Given the description of an element on the screen output the (x, y) to click on. 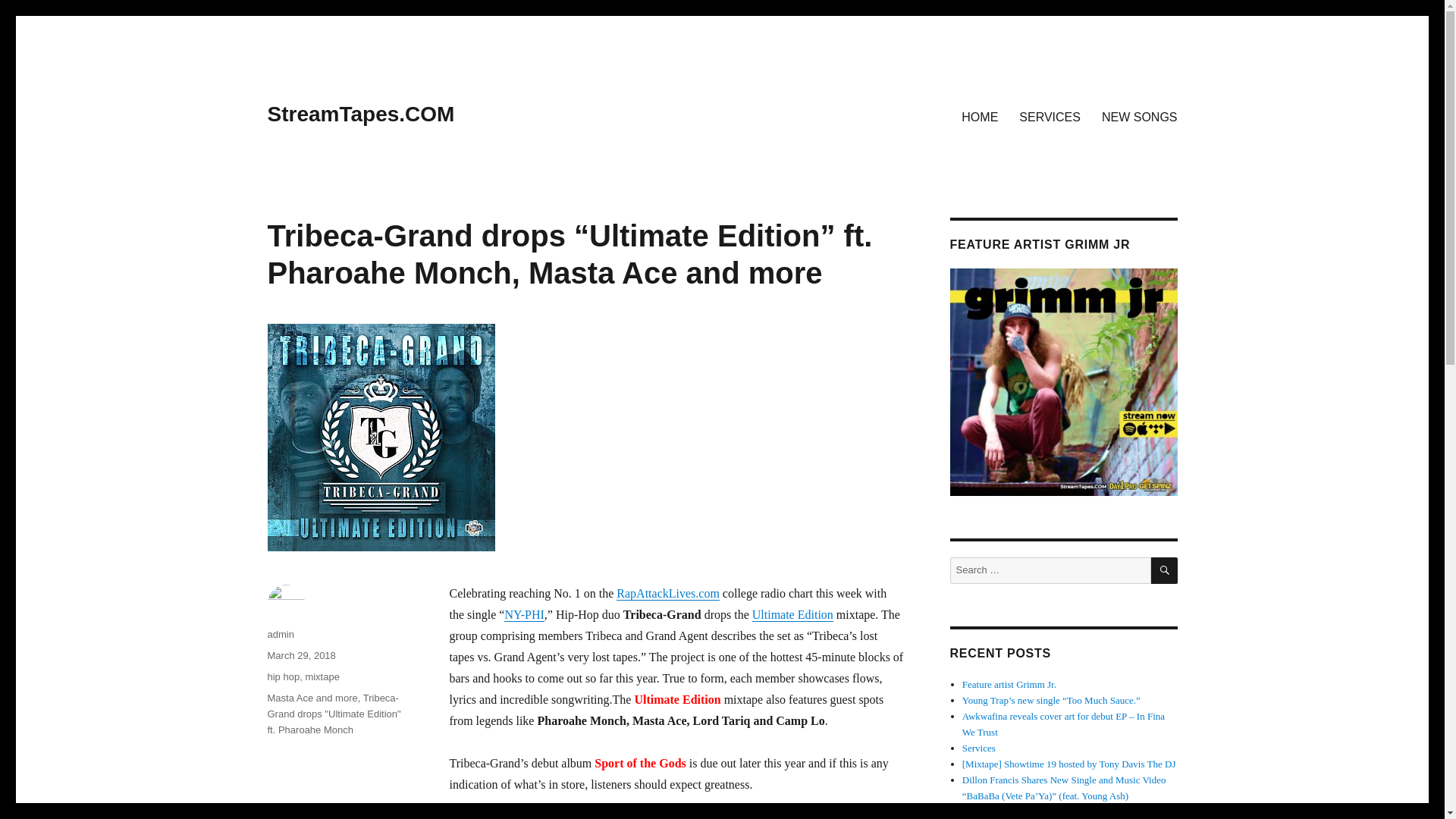
NY-PHI (523, 614)
mixtape (321, 676)
admin (280, 633)
NEW SONGS (1139, 116)
Ultimate Edition (792, 614)
March 29, 2018 (300, 655)
RapAttackLives.com (667, 593)
SERVICES (1049, 116)
Feature artist Grimm Jr. (1009, 684)
hip hop (282, 676)
Masta Ace and more (311, 697)
Tribeca-Grand drops "Ultimate Edition" ft. Pharoahe Monch (333, 713)
SEARCH (1164, 570)
HOME (979, 116)
StreamTapes.COM (360, 114)
